Given the description of an element on the screen output the (x, y) to click on. 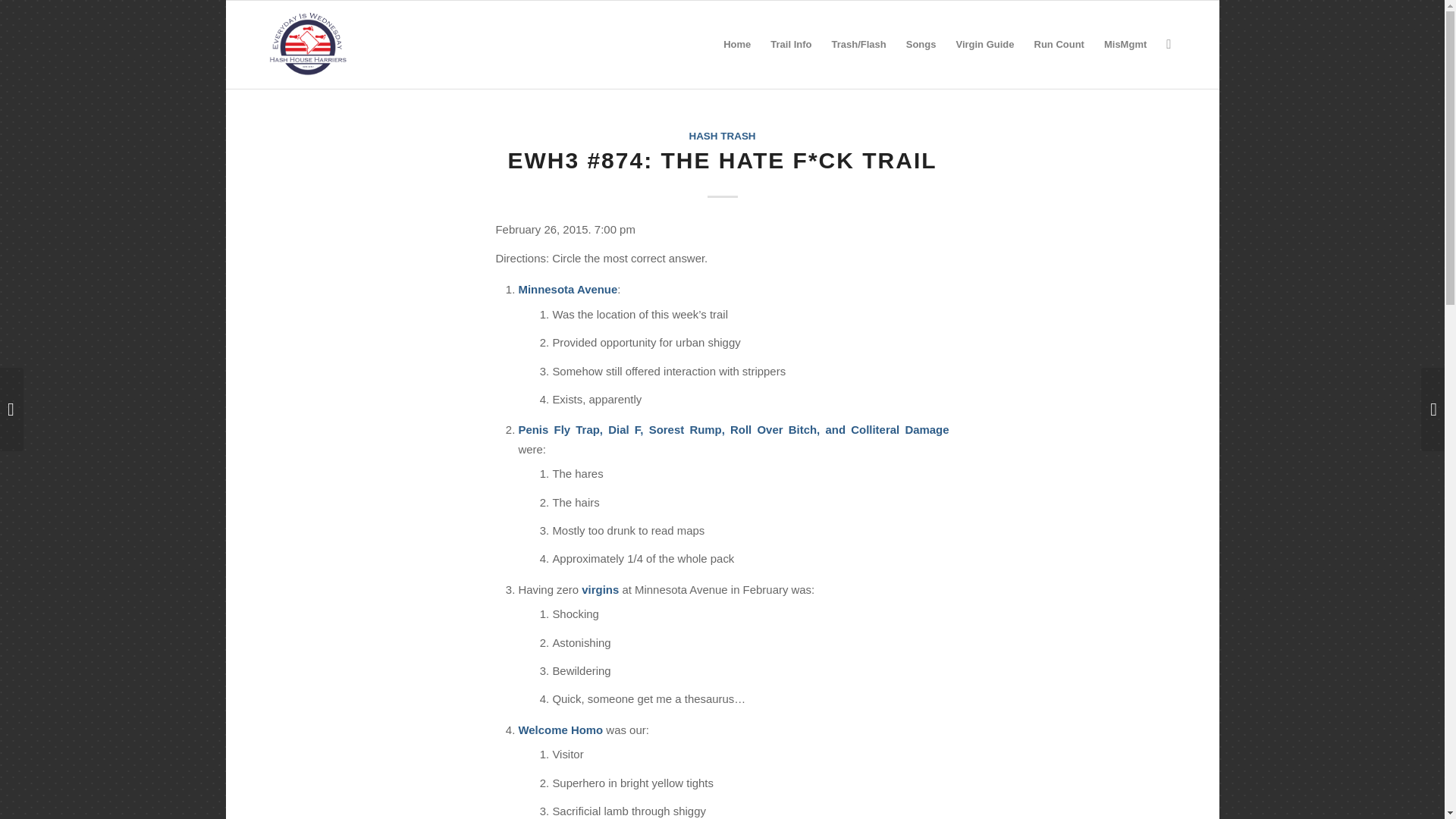
Home (736, 44)
HASH TRASH (721, 135)
Songs (921, 44)
Trail Info (790, 44)
